Given the description of an element on the screen output the (x, y) to click on. 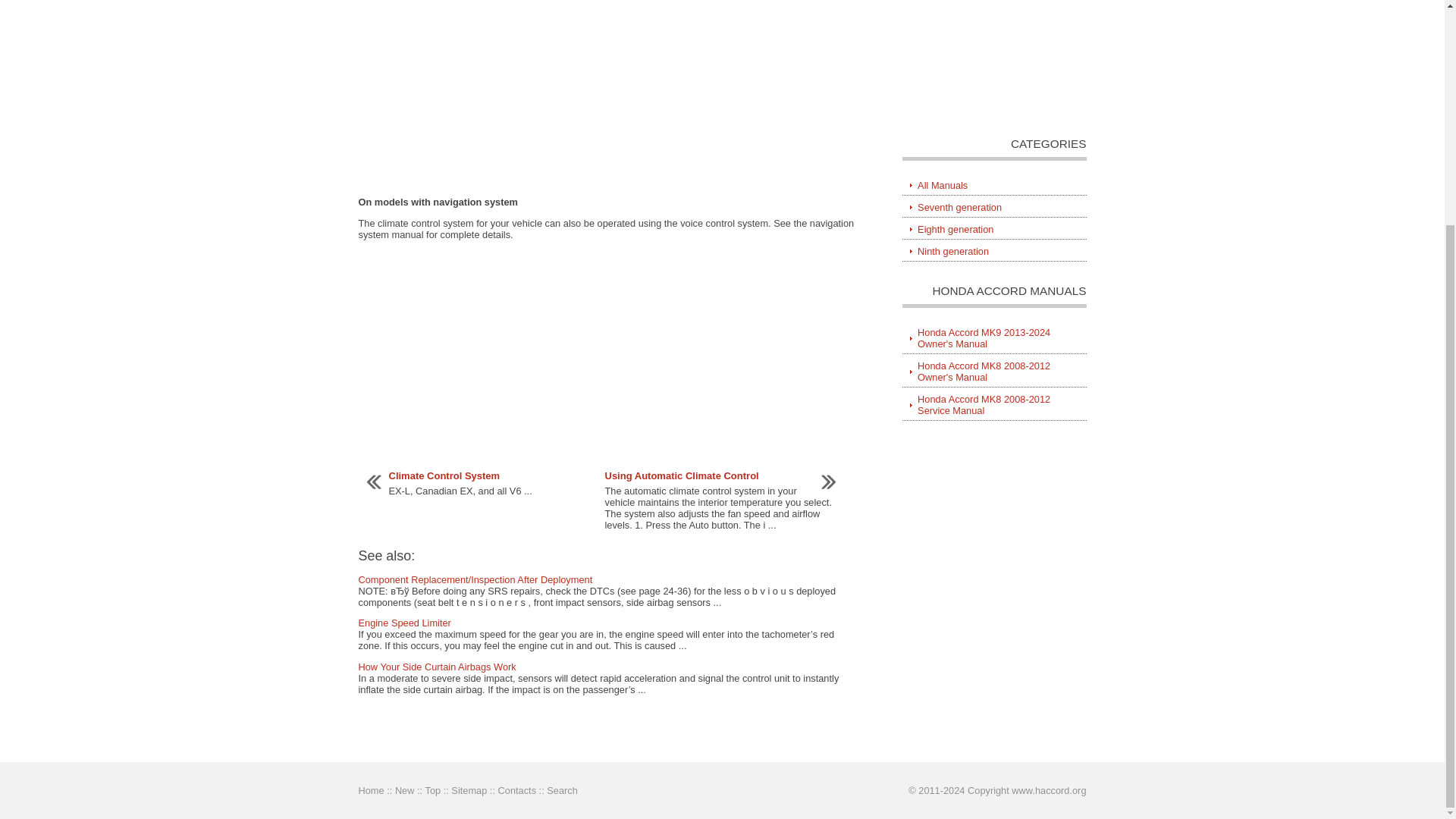
Seventh generation (994, 207)
All Manuals (994, 185)
Honda Accord MK8 2008-2012 Owner's Manual (994, 371)
Advertisement (607, 356)
Eighth generation (994, 229)
Climate Control System (443, 475)
New (404, 790)
Top (433, 790)
How Your Side Curtain Airbags Work (436, 666)
Advertisement (997, 67)
